Given the description of an element on the screen output the (x, y) to click on. 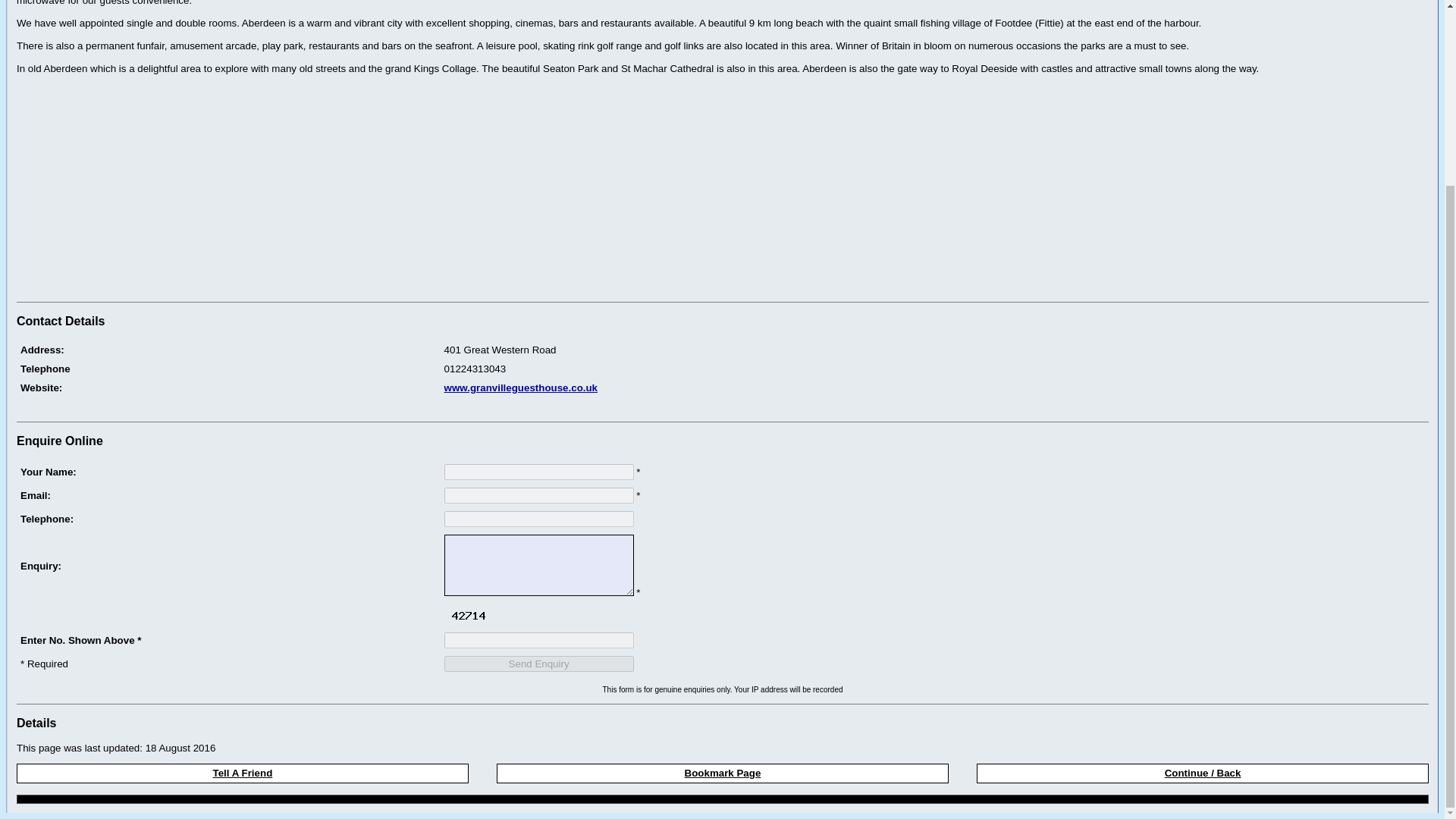
www.granvilleguesthouse.co.uk (520, 387)
Bookmark Page (722, 772)
Send Enquiry (538, 663)
Granville Guest House (934, 406)
Aberdeen City Bed and Breakfast (228, 406)
Send Enquiry (538, 663)
Advertisement (143, 190)
Tell A Friend (242, 772)
